Given the description of an element on the screen output the (x, y) to click on. 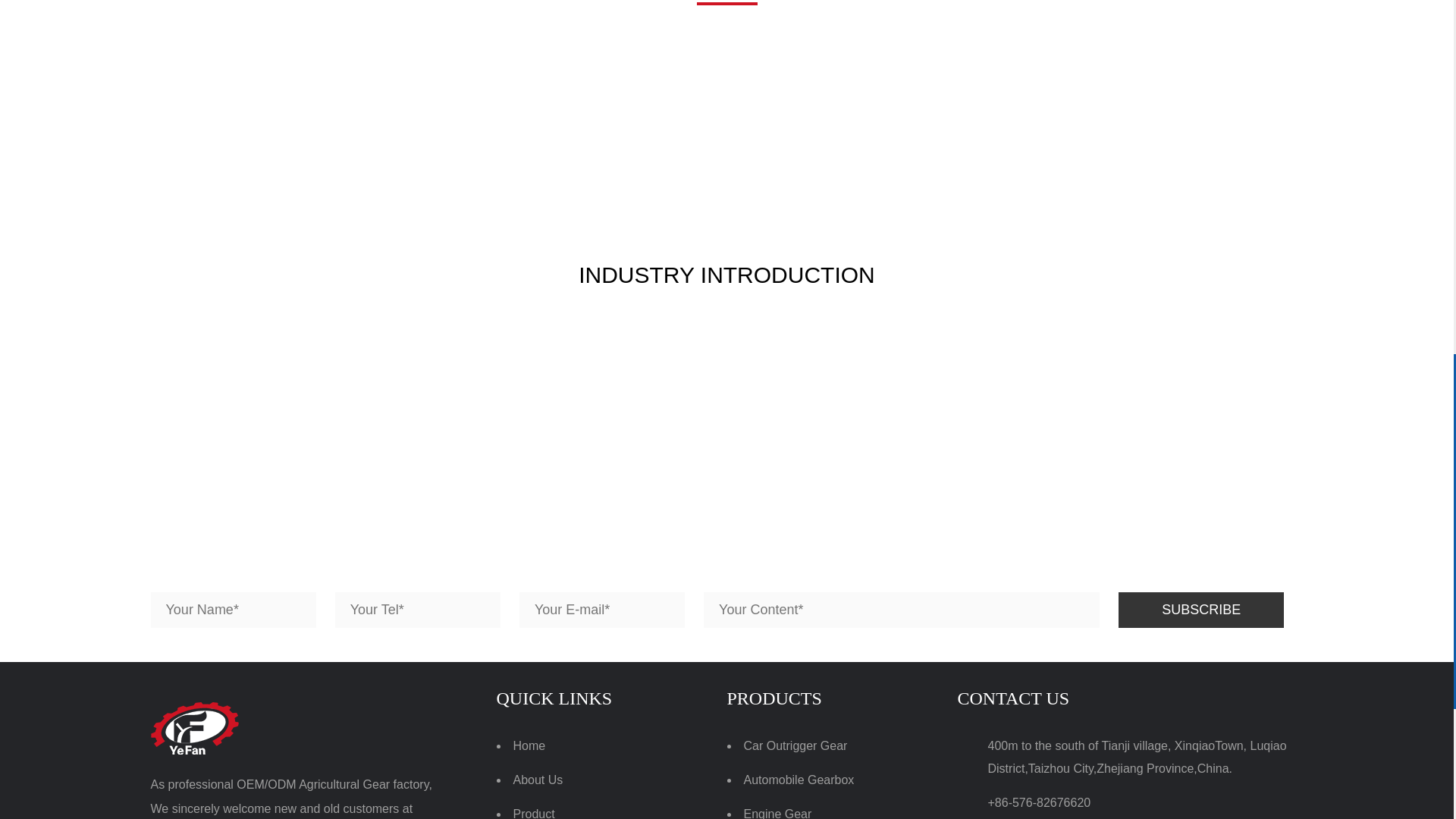
SUBSCRIBE (1201, 609)
